Given the description of an element on the screen output the (x, y) to click on. 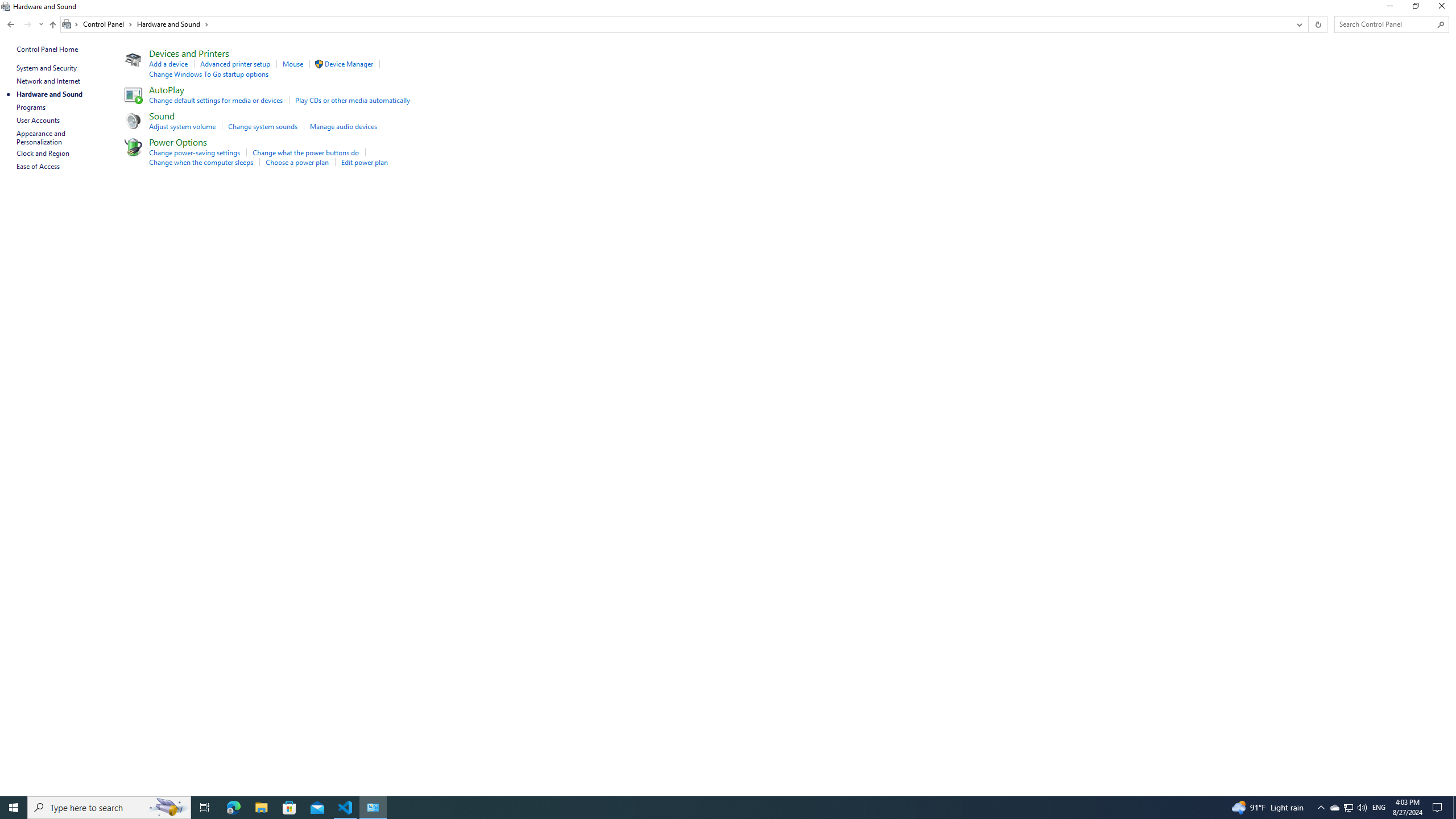
Change what the power buttons do (305, 152)
System (6, 6)
Minimize (1388, 8)
Add a device (168, 63)
Search (1441, 24)
Control Panel - 1 running window (373, 807)
Refresh "Hardware and Sound" (F5) (1316, 23)
Play CDs or other media automatically (352, 99)
Restore (1415, 8)
Programs (31, 107)
